Given the description of an element on the screen output the (x, y) to click on. 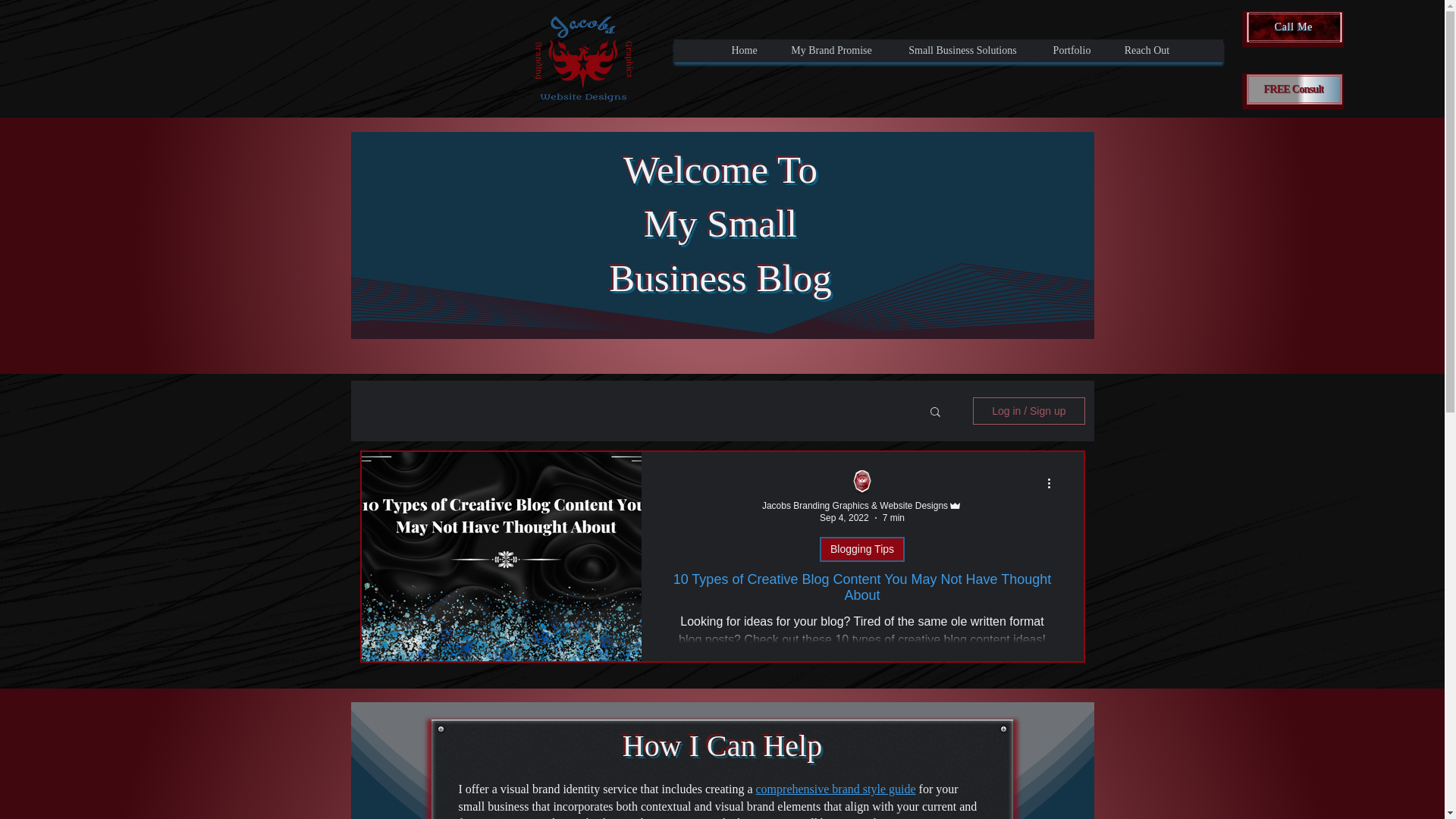
FREE Consult (1294, 89)
Home (744, 50)
7 min (893, 517)
Portfolio (1070, 50)
Small Business Solutions (962, 50)
Sep 4, 2022 (844, 517)
Blogging Tips (861, 549)
Call Me (1294, 27)
comprehensive brand style guide (835, 788)
My Brand Promise (830, 50)
Reach Out (1147, 50)
